Given the description of an element on the screen output the (x, y) to click on. 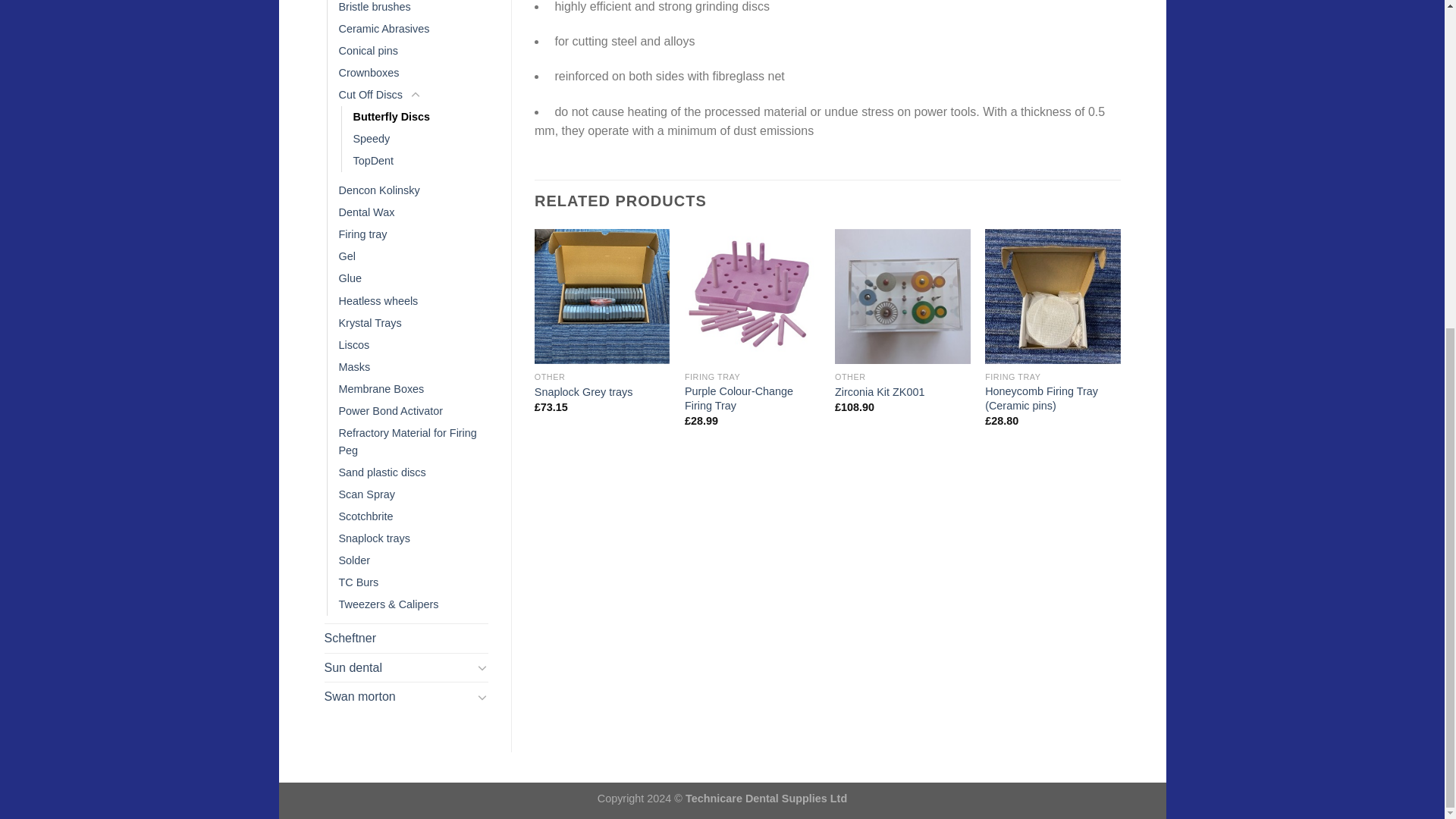
Snaplock Grey trays (583, 391)
Purple Colour-Change Firing Tray (752, 398)
